Given the description of an element on the screen output the (x, y) to click on. 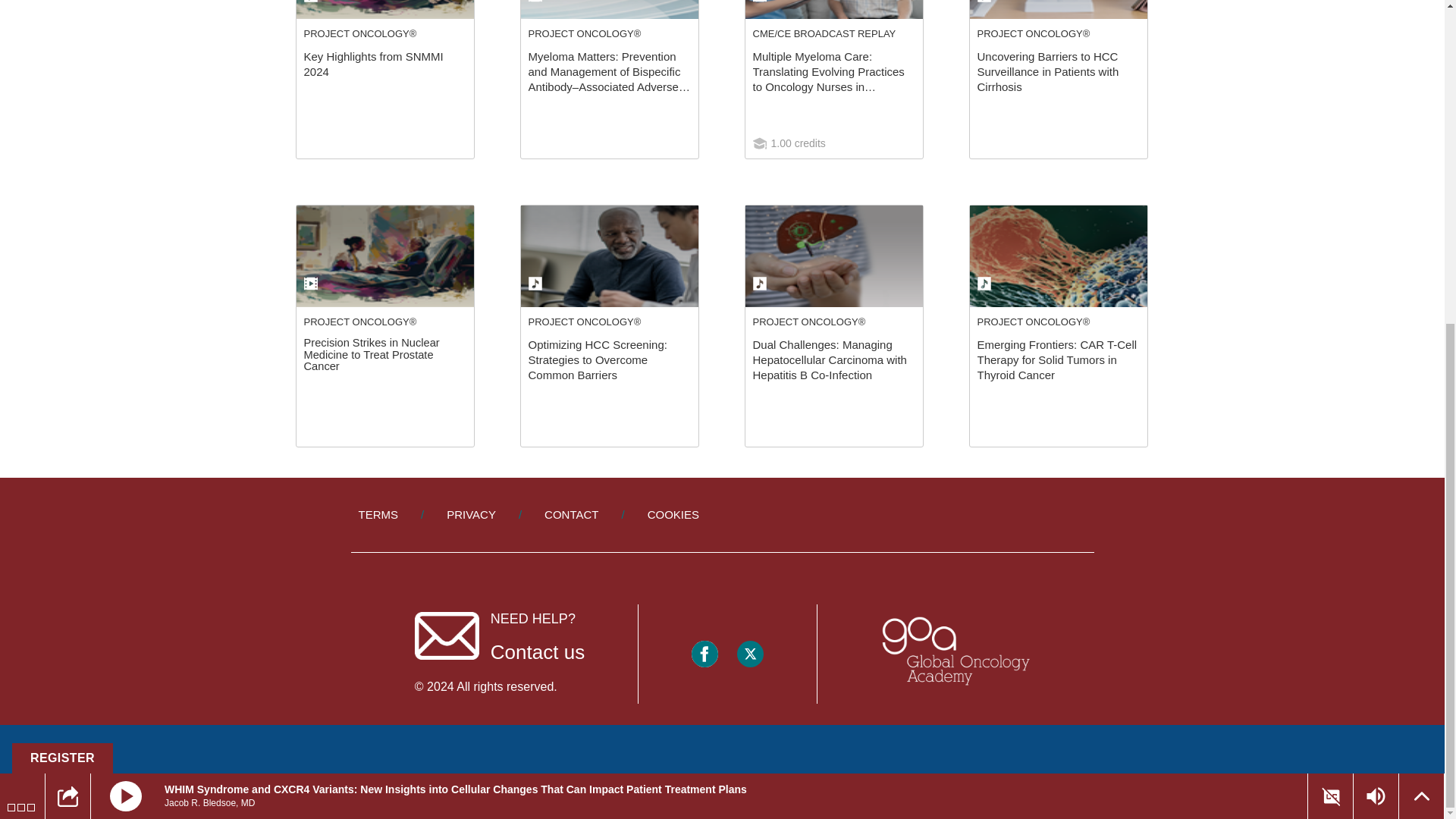
Share Program (68, 266)
Twitter (749, 652)
Global Oncology Academy (953, 653)
Global Oncology Academy (953, 652)
